Given the description of an element on the screen output the (x, y) to click on. 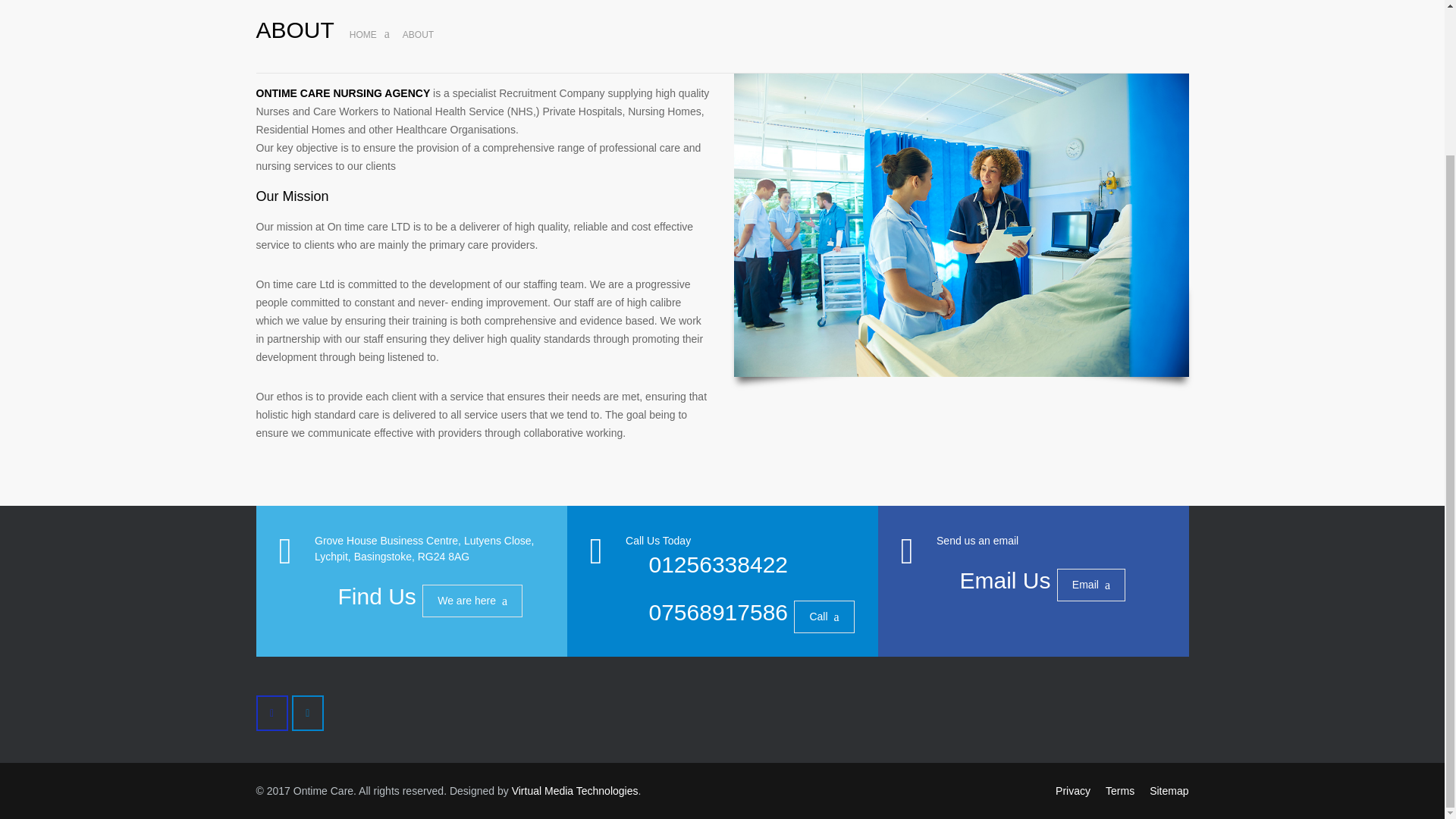
Home (363, 34)
Send us an email (976, 540)
Send us an email (976, 540)
On Time Care on Facebook (272, 713)
Call Us Today (658, 540)
We are here (472, 600)
Email (1091, 584)
Email (1091, 584)
Call Us Today (658, 540)
Privacy (1072, 790)
Call (823, 616)
Terms (1119, 790)
HOME (363, 34)
We are here (472, 600)
